Given the description of an element on the screen output the (x, y) to click on. 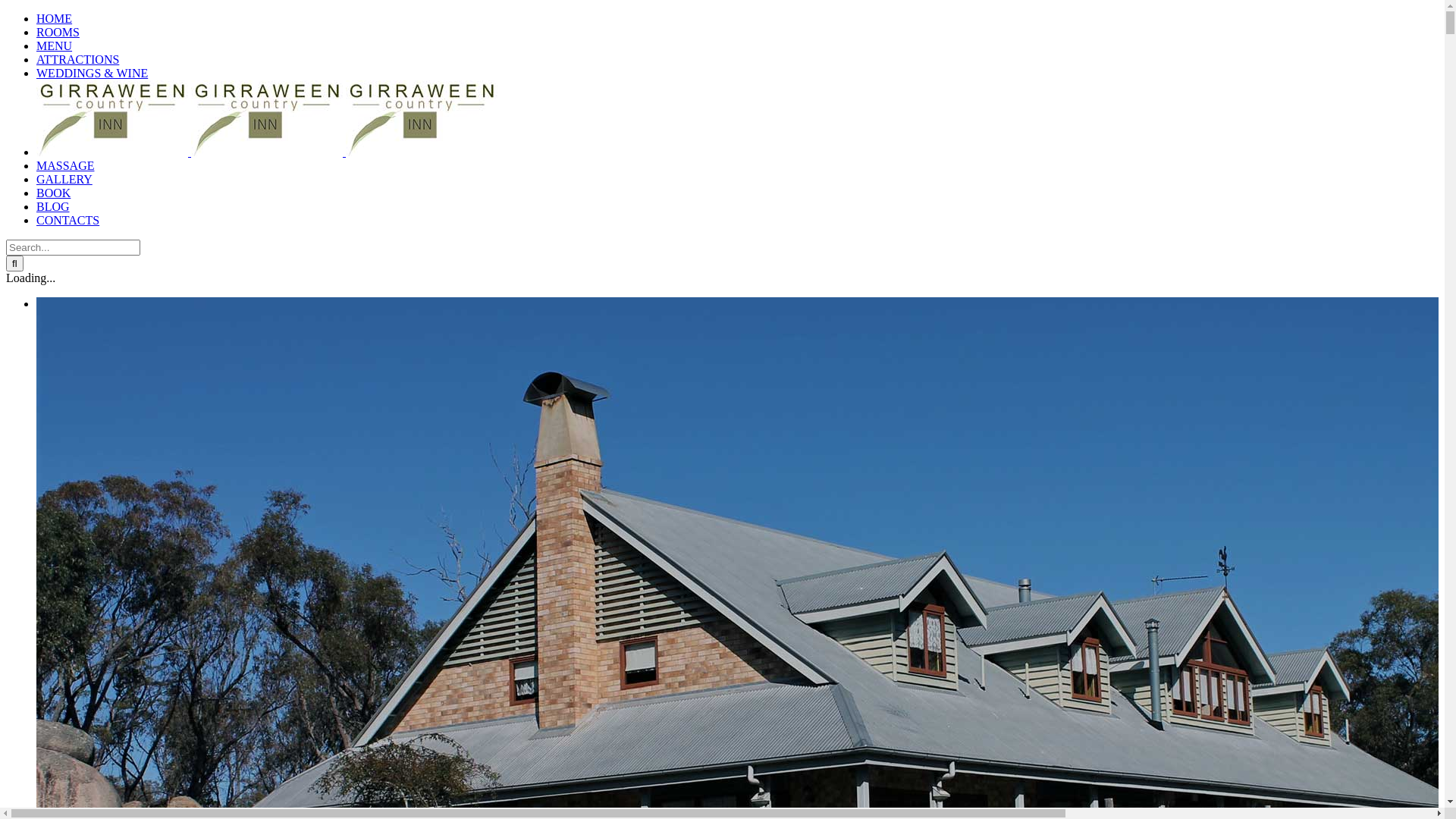
WEDDINGS & WINE Element type: text (91, 72)
ATTRACTIONS Element type: text (77, 59)
ROOMS Element type: text (57, 31)
Skip to content Element type: text (5, 11)
MENU Element type: text (54, 45)
GALLERY Element type: text (64, 178)
BLOG Element type: text (52, 206)
HOME Element type: text (54, 18)
CONTACTS Element type: text (67, 219)
MASSAGE Element type: text (65, 165)
BOOK Element type: text (53, 192)
